Given the description of an element on the screen output the (x, y) to click on. 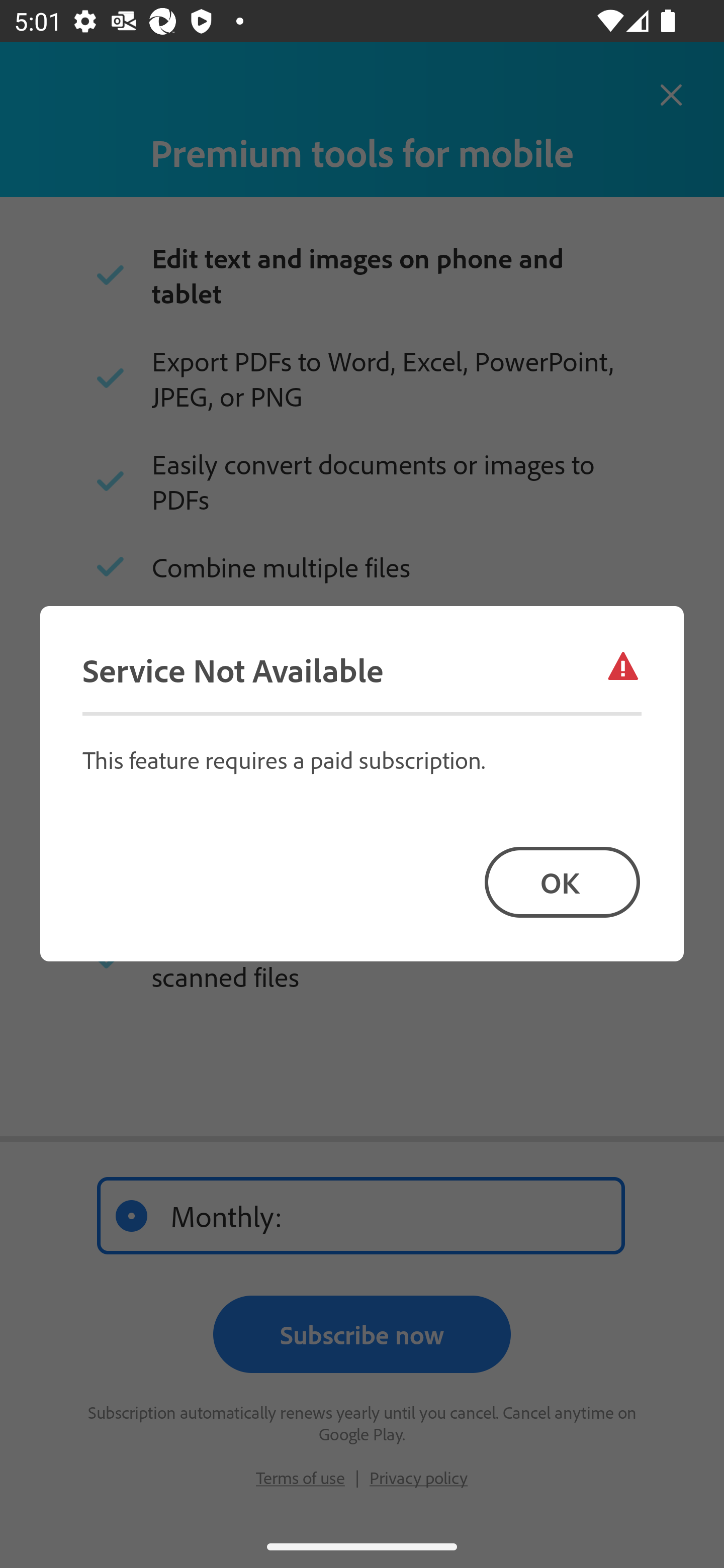
OK (561, 881)
